Given the description of an element on the screen output the (x, y) to click on. 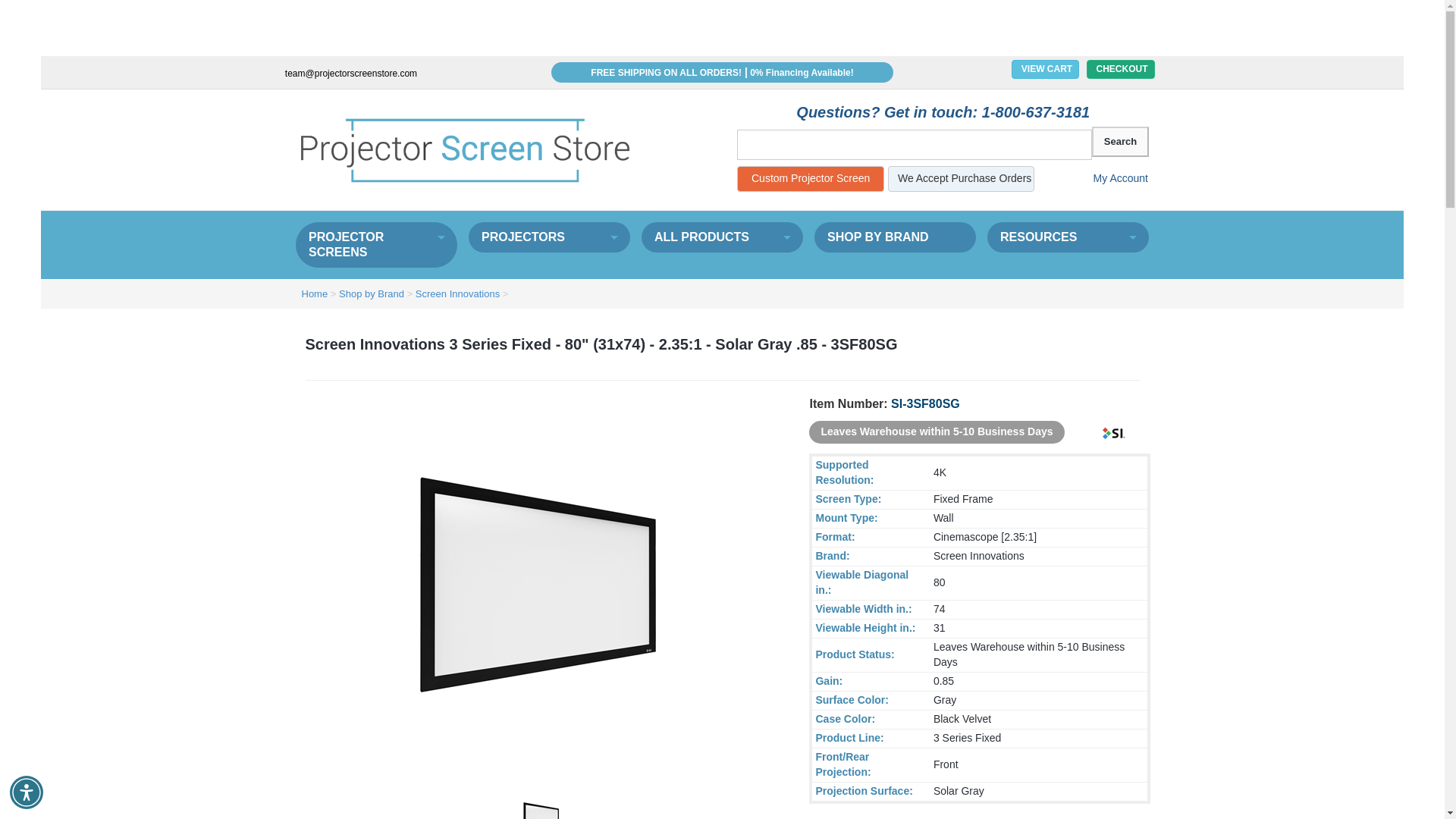
Accessibility Menu (26, 792)
Search (1120, 141)
Custom Projector Screen (809, 178)
My Account (1108, 178)
Search (1120, 141)
We Accept Purchase Orders (960, 178)
PROJECTOR SCREENS (376, 244)
 CHECKOUT (1120, 68)
FREE SHIPPING ON ALL ORDERS! (666, 72)
 VIEW CART (1044, 68)
